Given the description of an element on the screen output the (x, y) to click on. 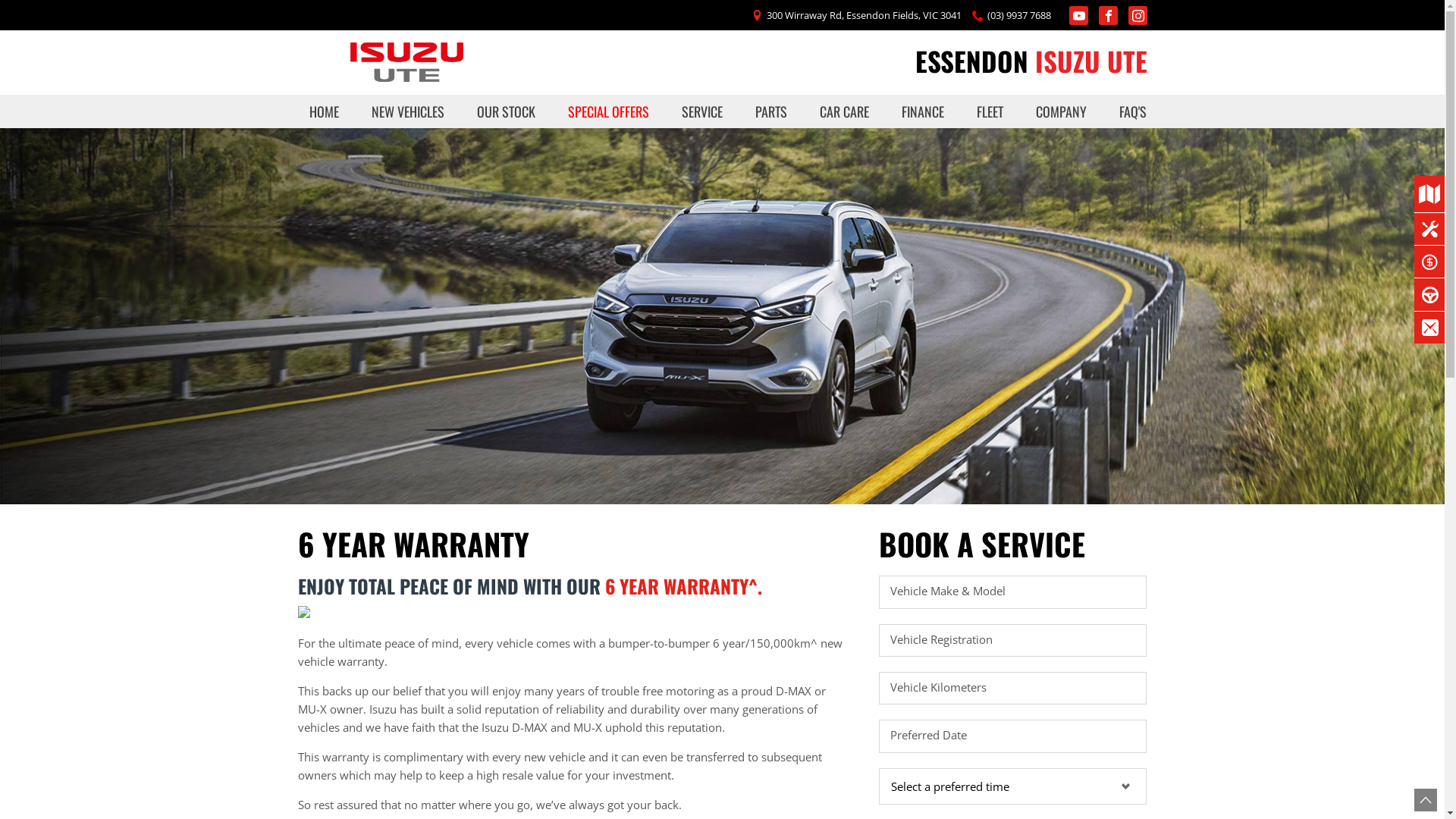
CAR CARE Element type: text (844, 111)
FLEET Element type: text (989, 111)
FINANCE Element type: text (922, 111)
FAQ'S Element type: text (1126, 111)
OUR STOCK Element type: text (505, 111)
(03) 9937 7688 Element type: text (1019, 15)
NEW VEHICLES Element type: text (407, 111)
300 Wirraway Rd, Essendon Fields, VIC 3041 Element type: text (862, 15)
SPECIAL OFFERS Element type: text (608, 111)
COMPANY Element type: text (1061, 111)
HOME Element type: text (323, 111)
SERVICE Element type: text (702, 111)
PARTS Element type: text (770, 111)
